Given the description of an element on the screen output the (x, y) to click on. 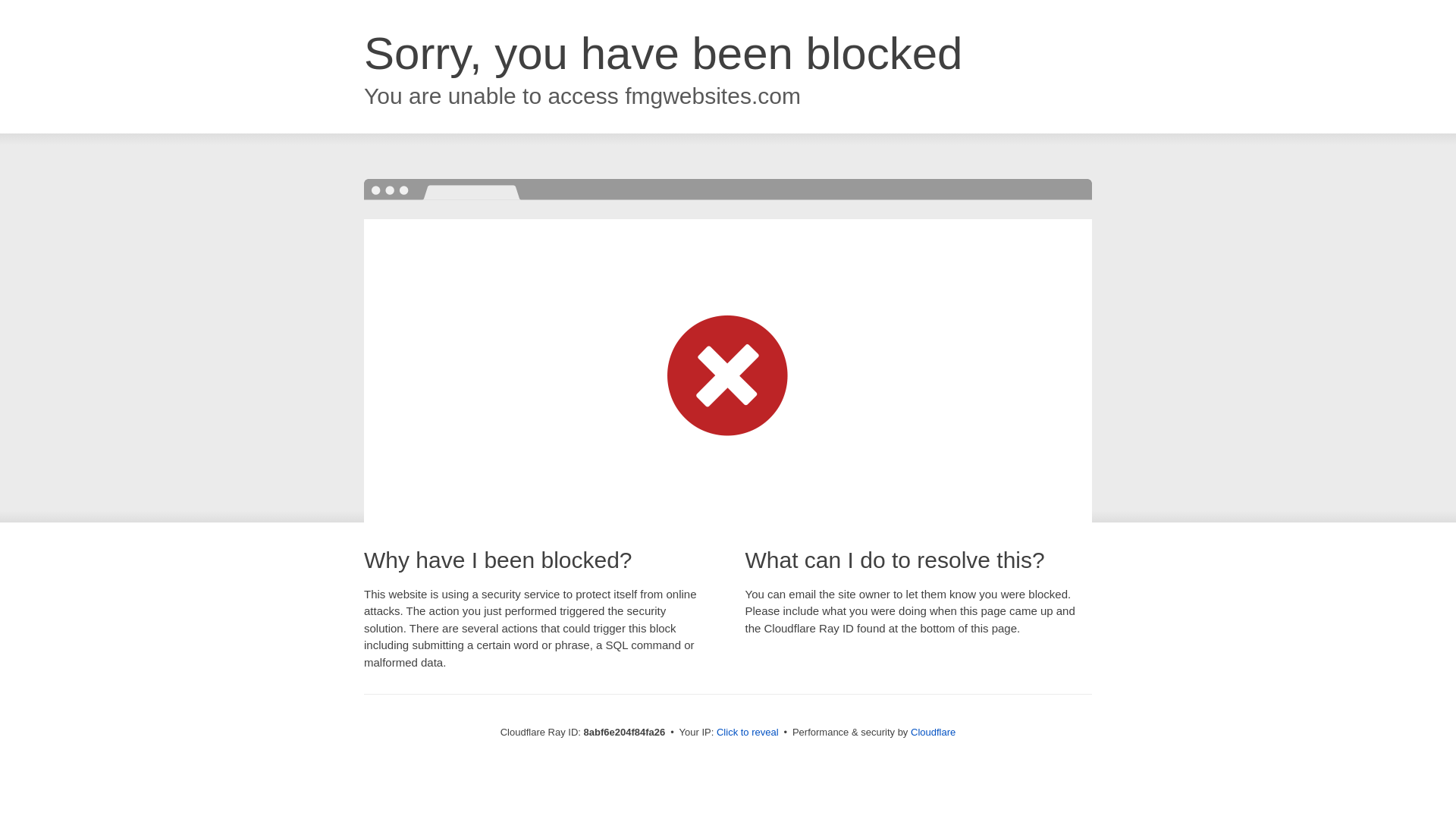
Click to reveal (747, 732)
Cloudflare (933, 731)
